Given the description of an element on the screen output the (x, y) to click on. 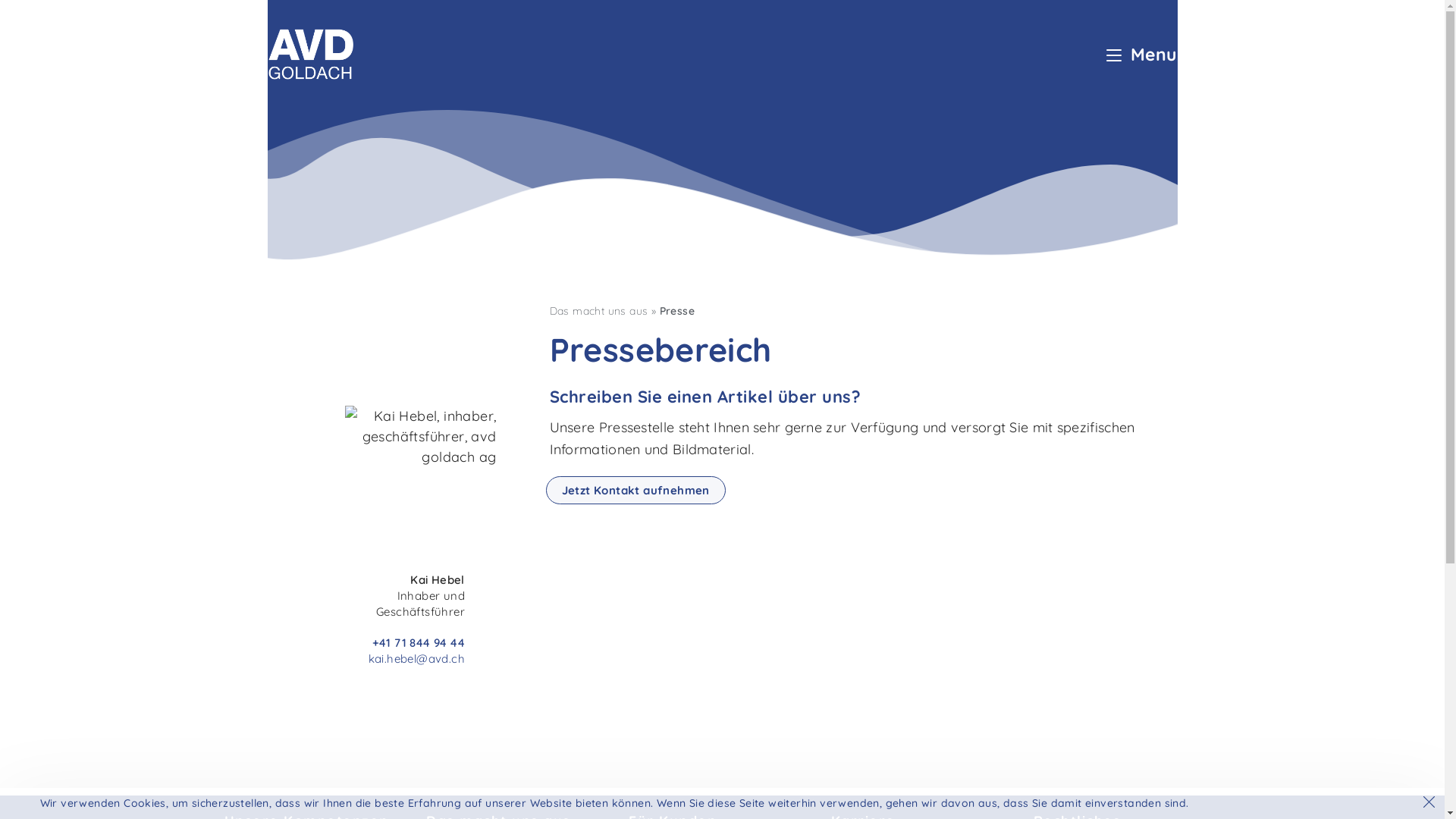
Jetzt Kontakt aufnehmen Element type: text (635, 490)
kai.hebel@avd.ch Element type: text (416, 658)
Presse Element type: text (676, 310)
Menu Element type: text (1142, 55)
Das macht uns aus Element type: text (598, 310)
+41 71 844 94 44 Element type: text (417, 642)
